Given the description of an element on the screen output the (x, y) to click on. 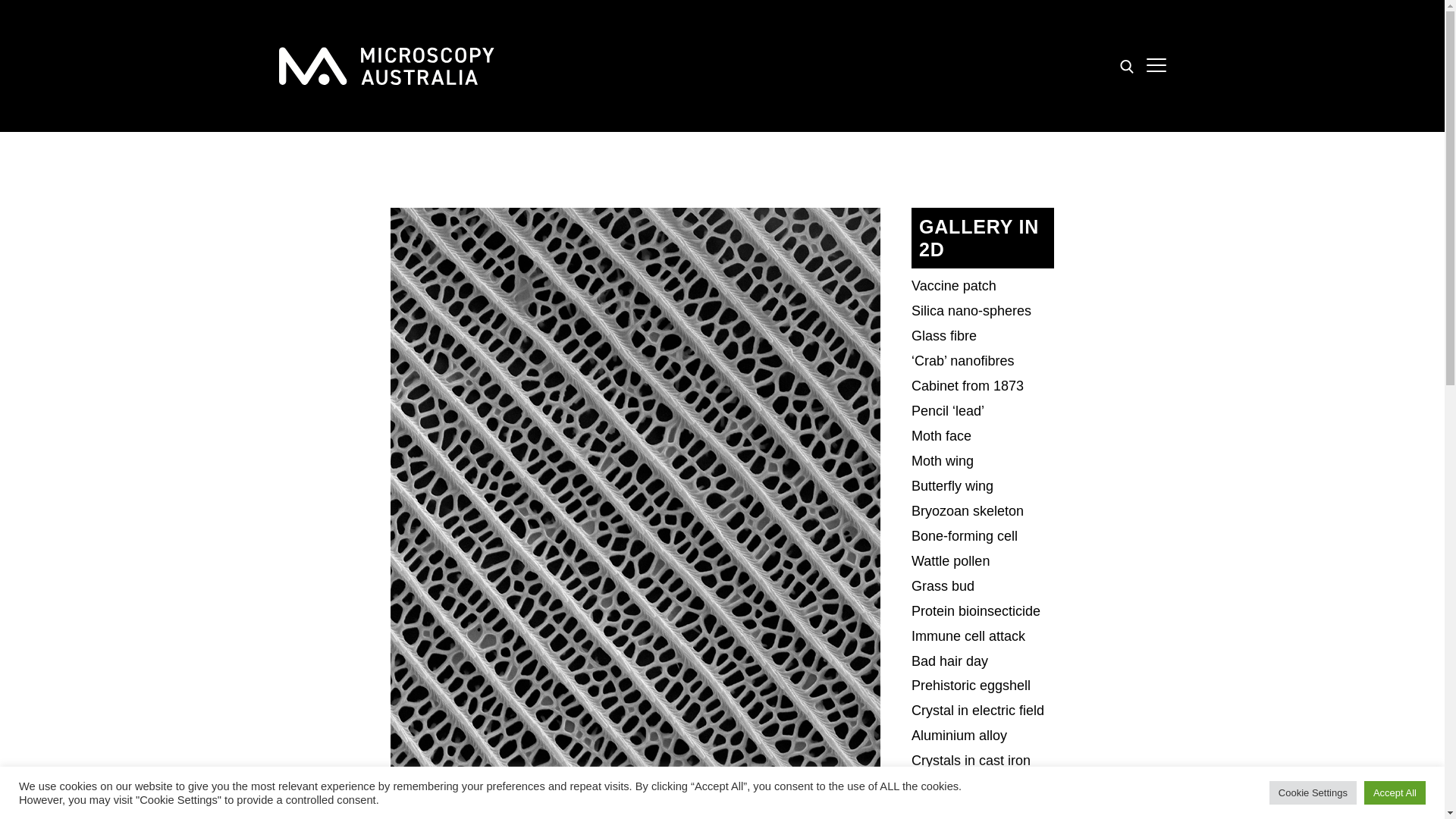
Go to Microscopy Australia homepage (387, 65)
